Given the description of an element on the screen output the (x, y) to click on. 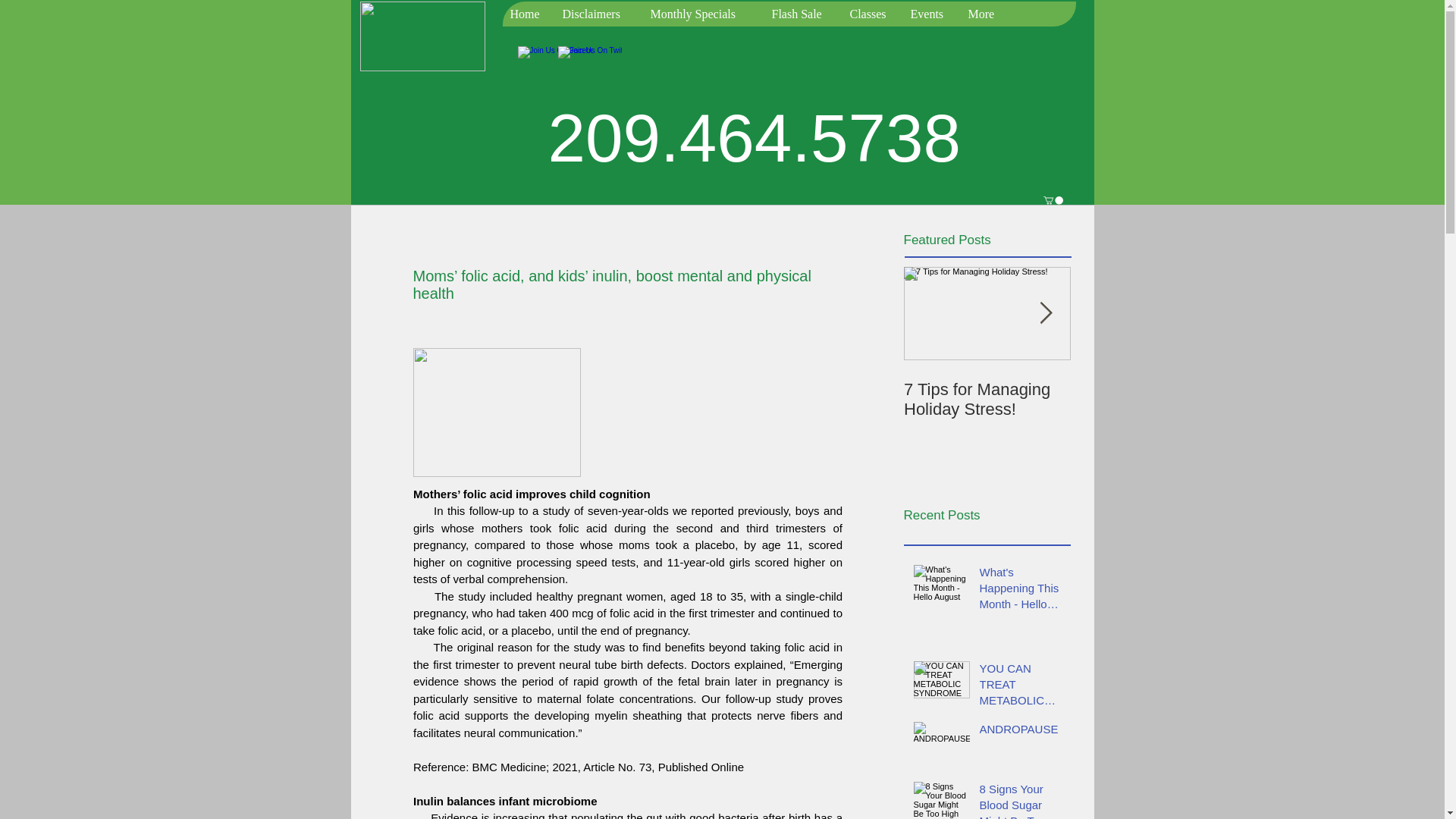
Flash Sale (801, 13)
ANDROPAUSE (1020, 731)
What's Happening This Month - Hello August (1020, 591)
Monthly Specials (702, 13)
YOU CAN TREAT METABOLIC SYNDROME WITH BERBERINE (1020, 687)
Beat Holiday Stress with this Super Food! (1153, 399)
7 Tips for Managing Holiday Stress! (987, 399)
Classes (871, 13)
Disclaimers (597, 13)
8 Signs Your Blood Sugar Might Be Too High (1020, 800)
